Given the description of an element on the screen output the (x, y) to click on. 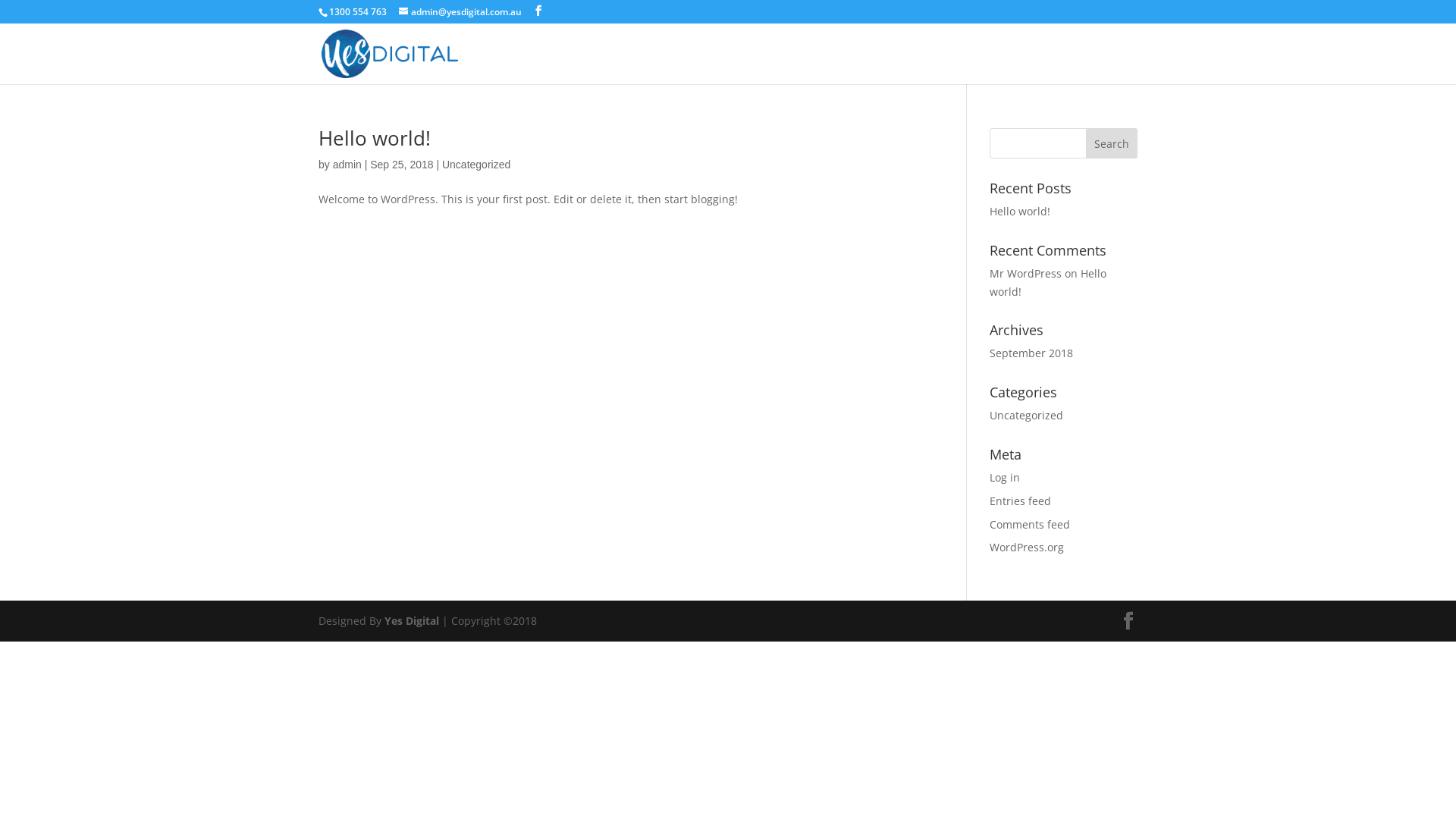
Comments feed Element type: text (1029, 524)
September 2018 Element type: text (1031, 352)
thankyou Element type: text (1017, 66)
admin@yesdigital.com.au Element type: text (459, 11)
Search Element type: text (1111, 143)
WordPress.org Element type: text (1026, 546)
admin Element type: text (346, 164)
Uncategorized Element type: text (1099, 66)
Entries feed Element type: text (1020, 500)
About Element type: text (876, 66)
Uncategorized Element type: text (1026, 414)
lp Element type: text (967, 66)
Yes Digital Element type: text (413, 620)
Uncategorized Element type: text (476, 164)
Home Element type: text (927, 66)
Hello world! Element type: text (1019, 210)
Hello world! Element type: text (374, 137)
Home Element type: text (824, 66)
Hello world! Element type: text (1047, 282)
Mr WordPress Element type: text (1025, 273)
Log in Element type: text (1004, 477)
